Given the description of an element on the screen output the (x, y) to click on. 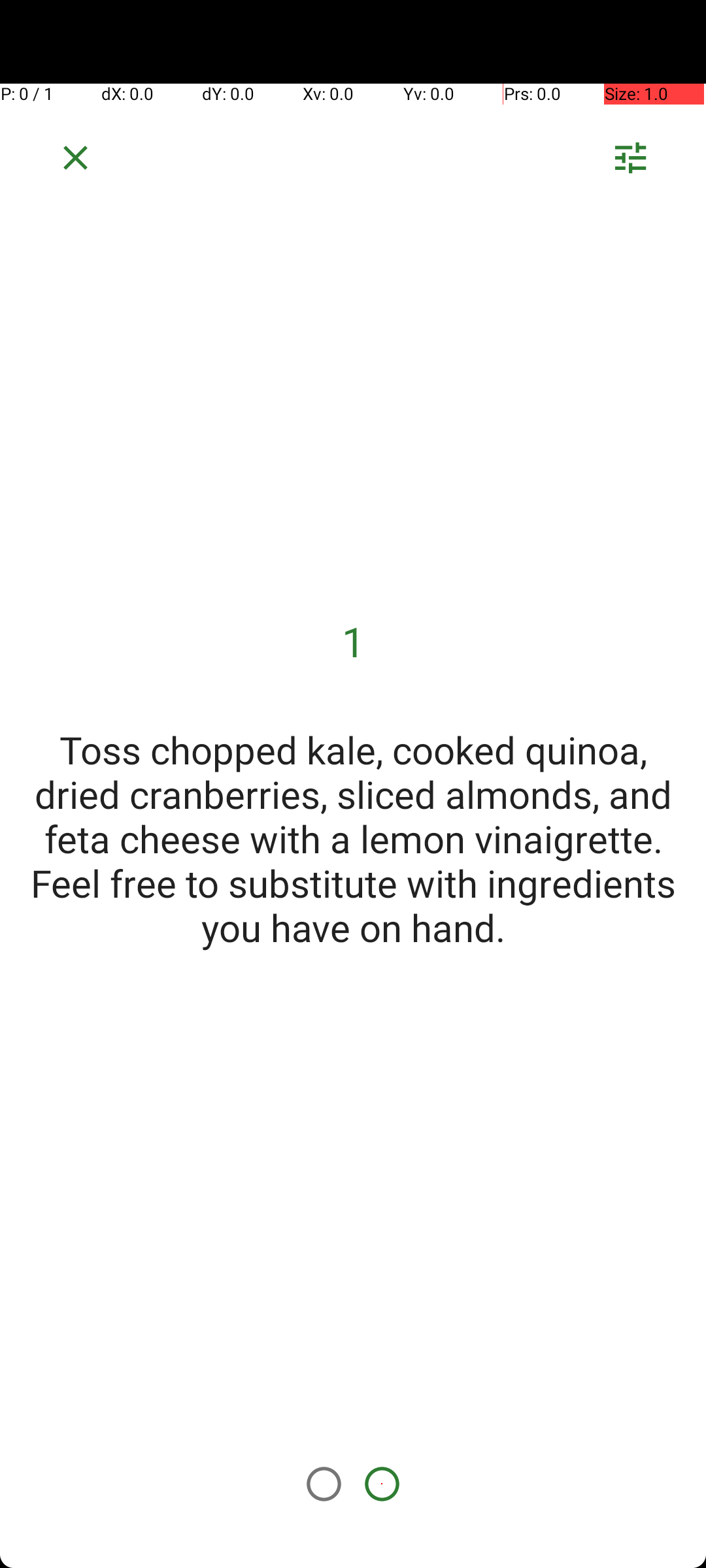
Toss chopped kale, cooked quinoa, dried cranberries, sliced almonds, and feta cheese with a lemon vinaigrette. Feel free to substitute with ingredients you have on hand. Element type: android.widget.TextView (352, 837)
